Given the description of an element on the screen output the (x, y) to click on. 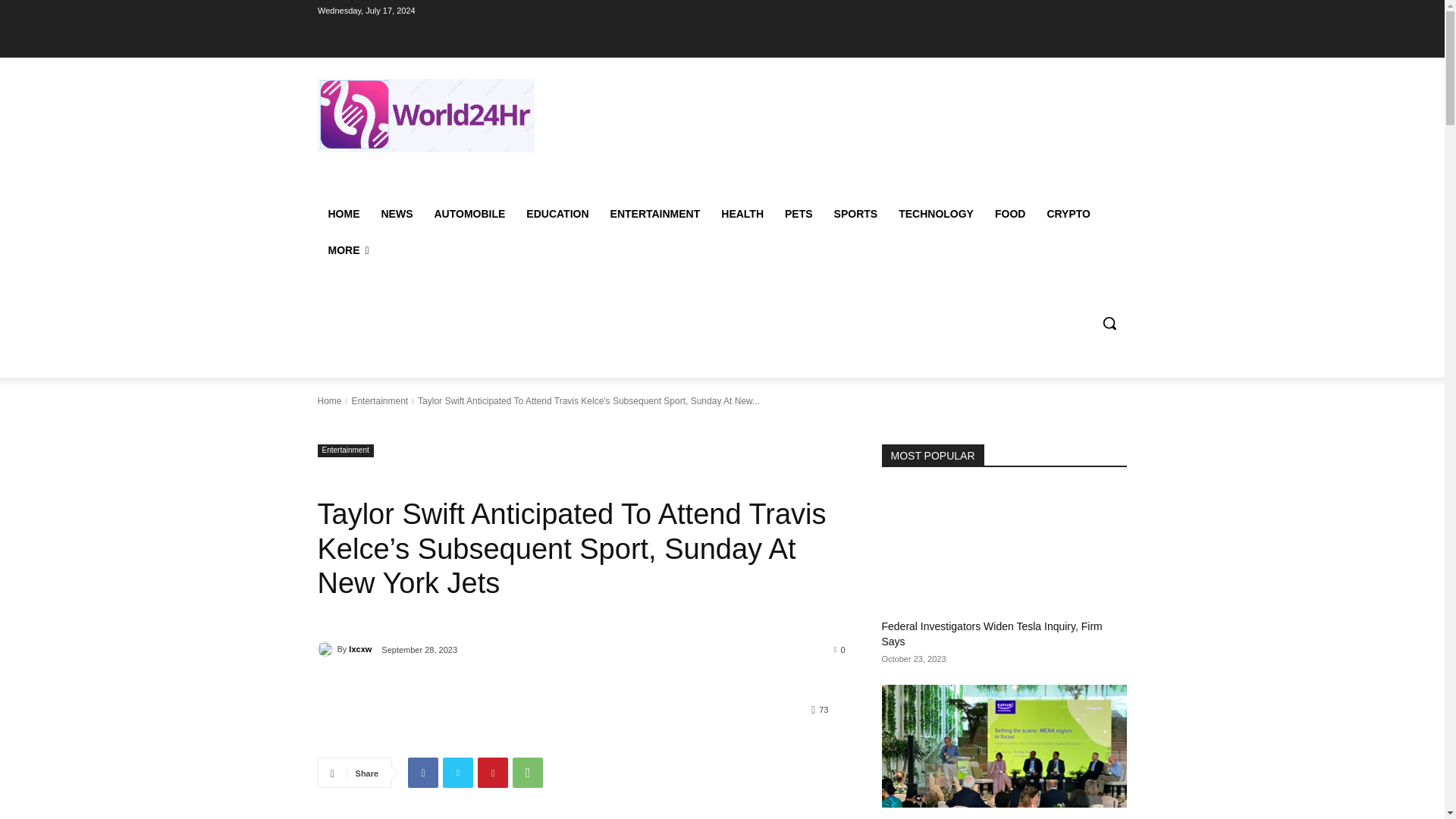
HOME (343, 213)
Pinterest (492, 772)
NEWS (396, 213)
Facebook (422, 772)
AUTOMOBILE (469, 213)
View all posts in Entertainment (378, 400)
lxcxw (326, 648)
ENTERTAINMENT (655, 213)
EDUCATION (556, 213)
WhatsApp (527, 772)
HEALTH (742, 213)
Twitter (457, 772)
